Given the description of an element on the screen output the (x, y) to click on. 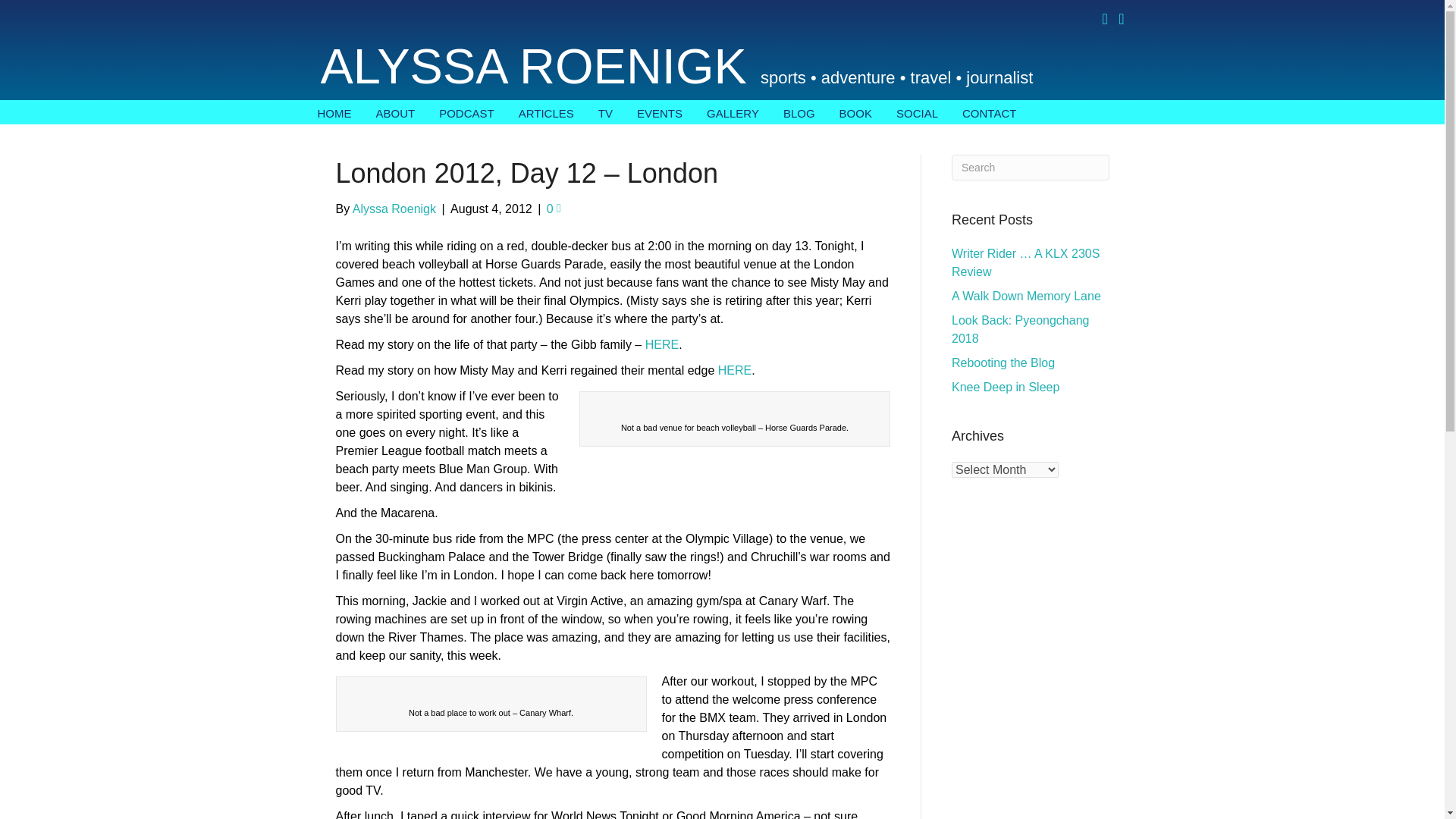
A Walk Down Memory Lane (1026, 295)
EVENTS (659, 112)
PODCAST (466, 112)
TV (605, 112)
GALLERY (732, 112)
Rebooting the Blog (1003, 362)
HERE (661, 344)
Type and press Enter to search. (1030, 167)
0 (553, 208)
Alyssa Roenigk (393, 208)
HERE (734, 369)
CONTACT (988, 112)
ABOUT (396, 112)
Look Back: Pyeongchang 2018 (1020, 328)
BLOG (799, 112)
